Given the description of an element on the screen output the (x, y) to click on. 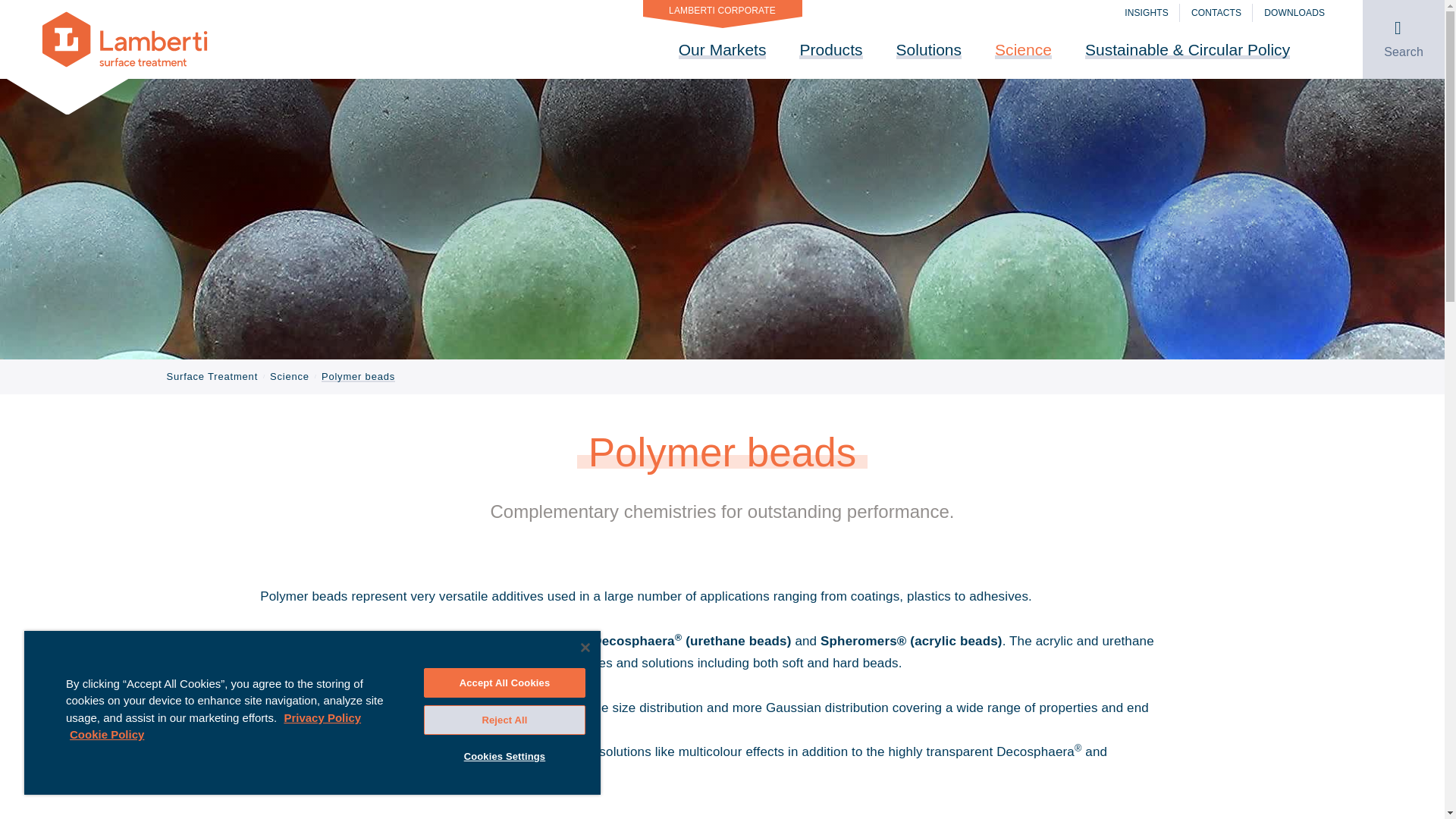
DOWNLOADS (1293, 13)
LAMBERTI CORPORATE (722, 8)
INSIGHTS (1146, 13)
CONTACTS (1216, 13)
